Given the description of an element on the screen output the (x, y) to click on. 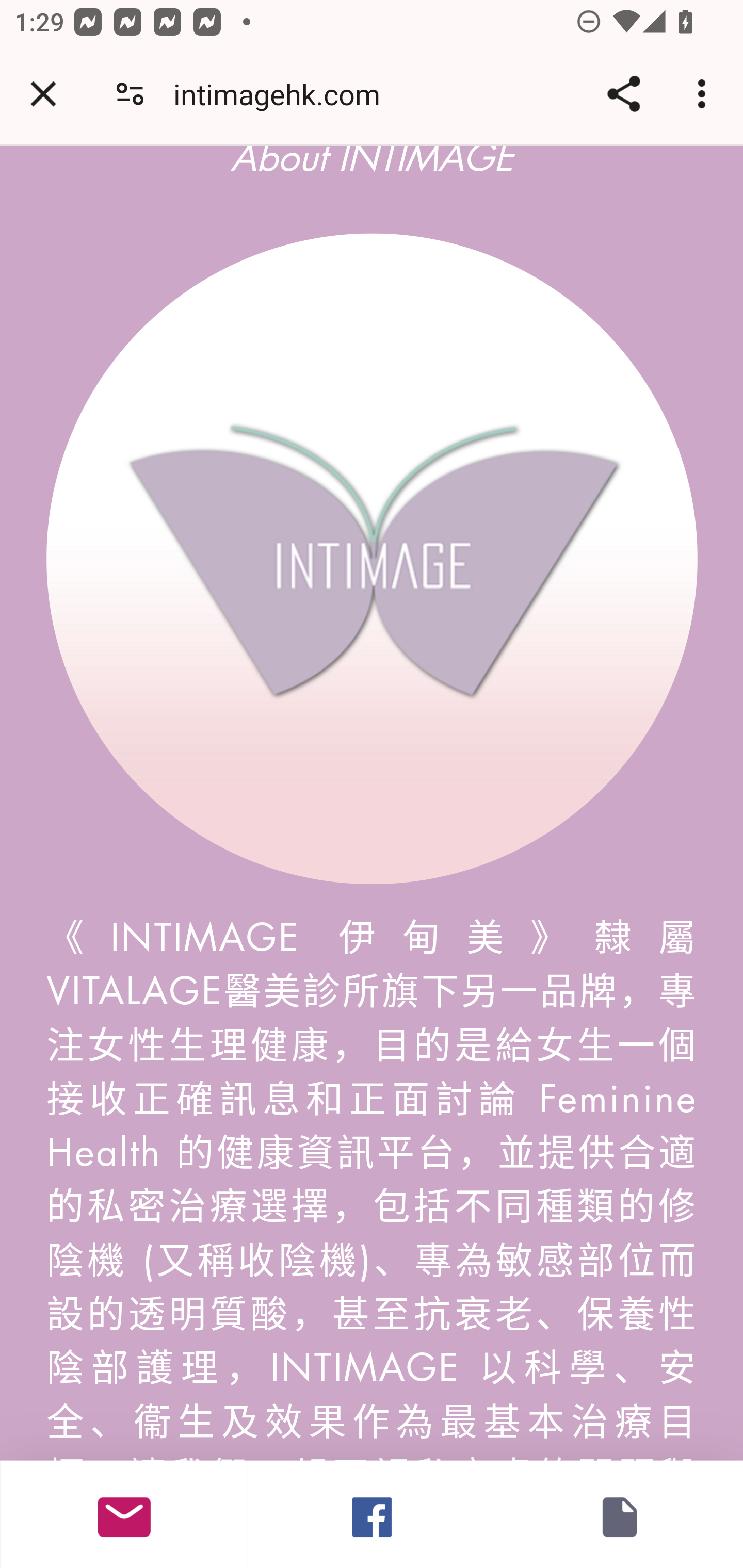
Close tab (43, 93)
Share (623, 93)
Customize and control Google Chrome (705, 93)
Connection is secure (129, 93)
intimagehk.com (283, 93)
Email (124, 1513)
Facebook (371, 1513)
Book Consultation (618, 1513)
